Given the description of an element on the screen output the (x, y) to click on. 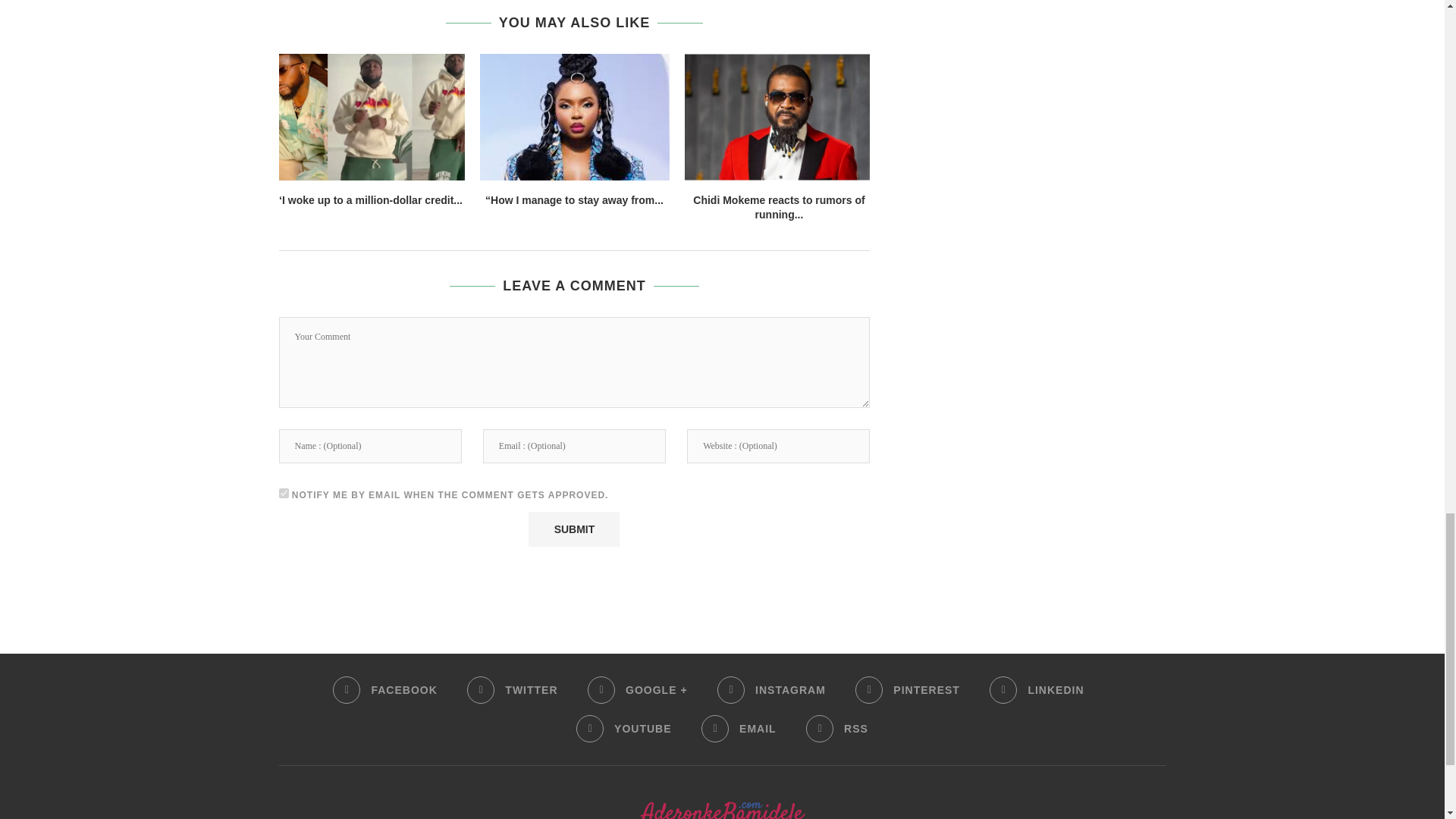
1 (283, 492)
Submit (574, 529)
